Given the description of an element on the screen output the (x, y) to click on. 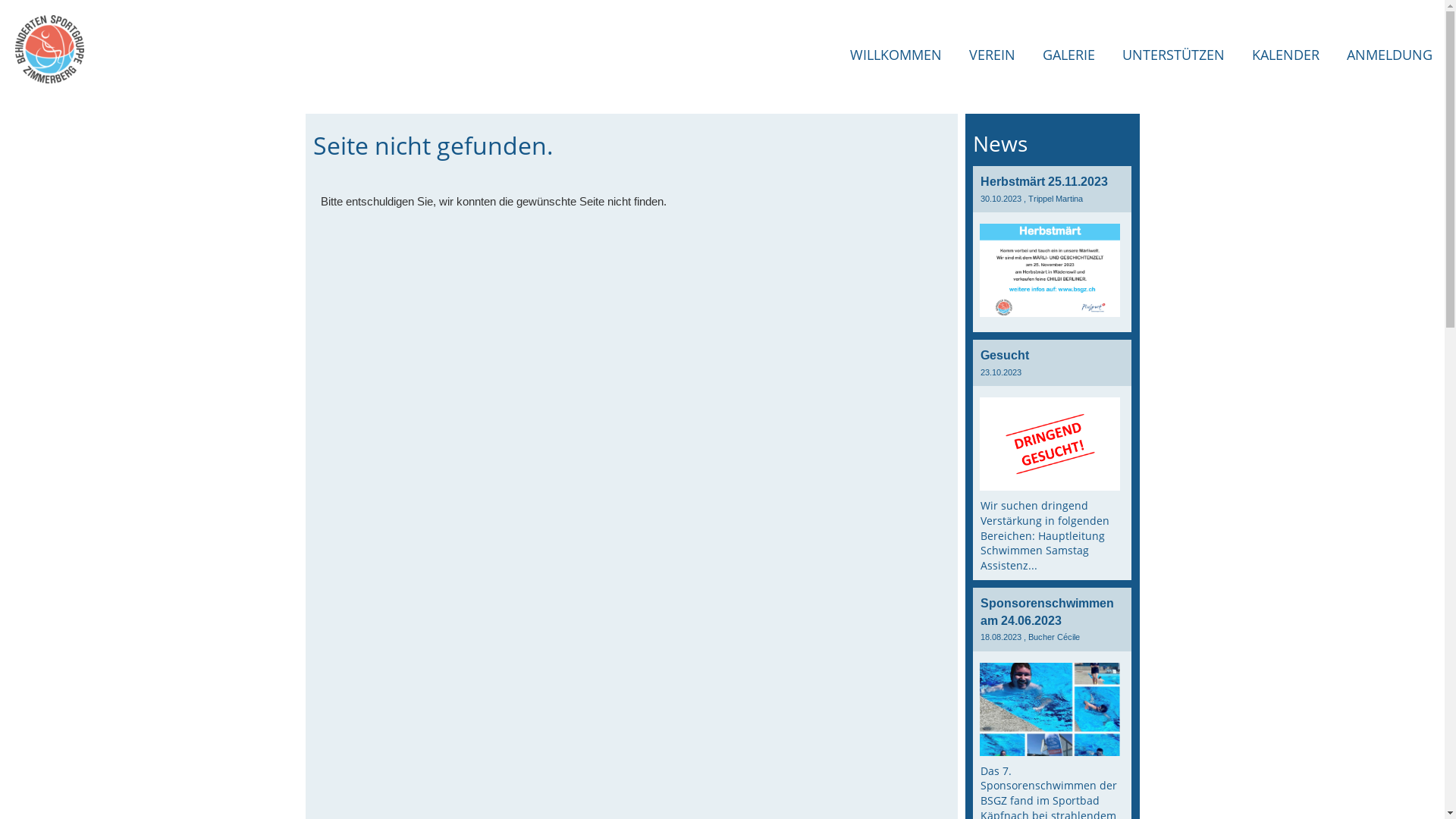
VEREIN Element type: text (992, 54)
GALERIE Element type: text (1068, 54)
ANMELDUNG Element type: text (1389, 54)
WILLKOMMEN Element type: text (895, 54)
KALENDER Element type: text (1285, 54)
